Given the description of an element on the screen output the (x, y) to click on. 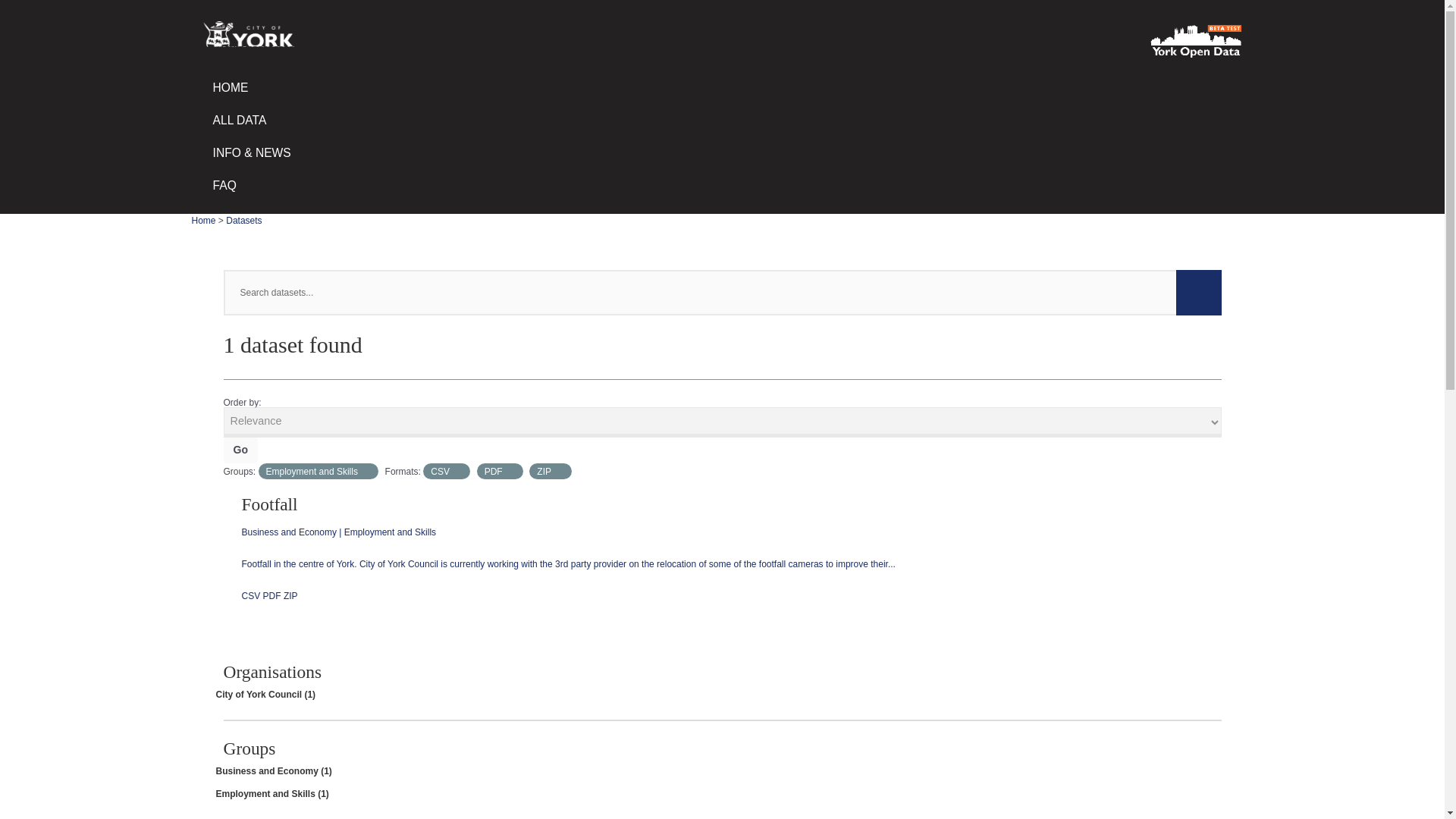
Remove (365, 470)
Remove (558, 470)
Remove (510, 470)
ALL DATA (722, 120)
Submit (1197, 292)
FAQ (722, 185)
Home (202, 220)
Datasets (243, 220)
HOME (722, 88)
Go (239, 450)
